Given the description of an element on the screen output the (x, y) to click on. 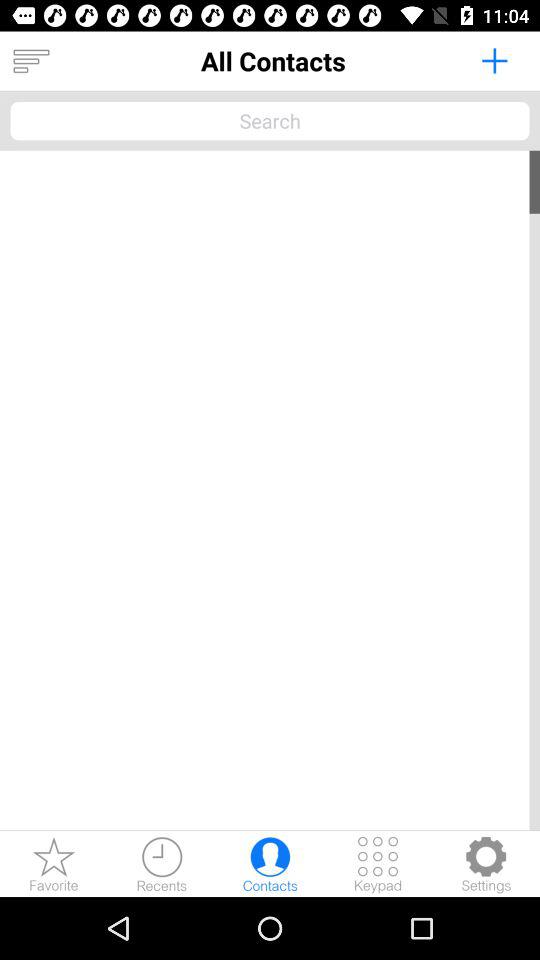
check options (485, 864)
